Given the description of an element on the screen output the (x, y) to click on. 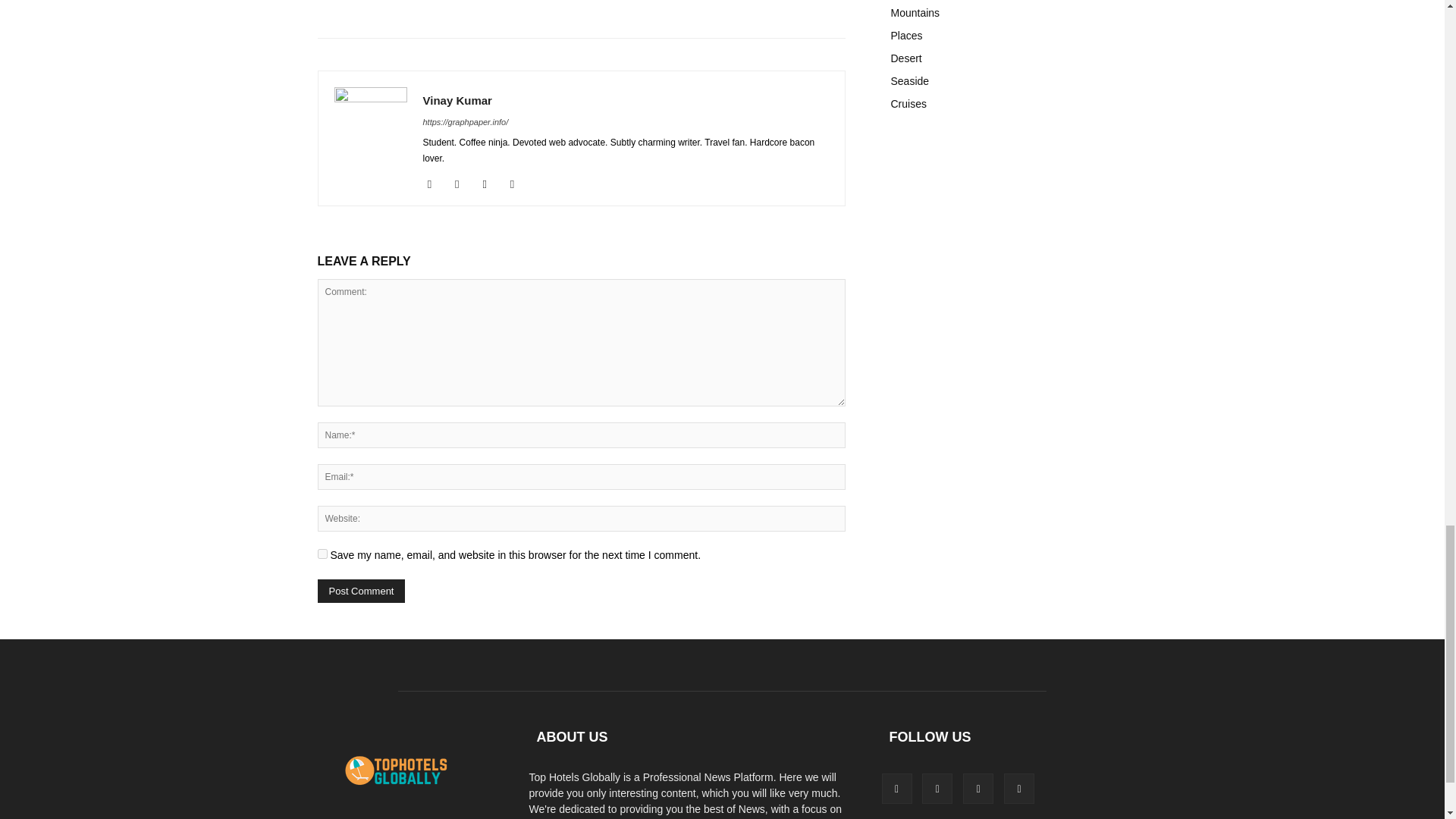
Linkedin (462, 184)
Post Comment (360, 590)
Mail (489, 184)
yes (321, 553)
Facebook (435, 184)
Twitter (518, 184)
